Given the description of an element on the screen output the (x, y) to click on. 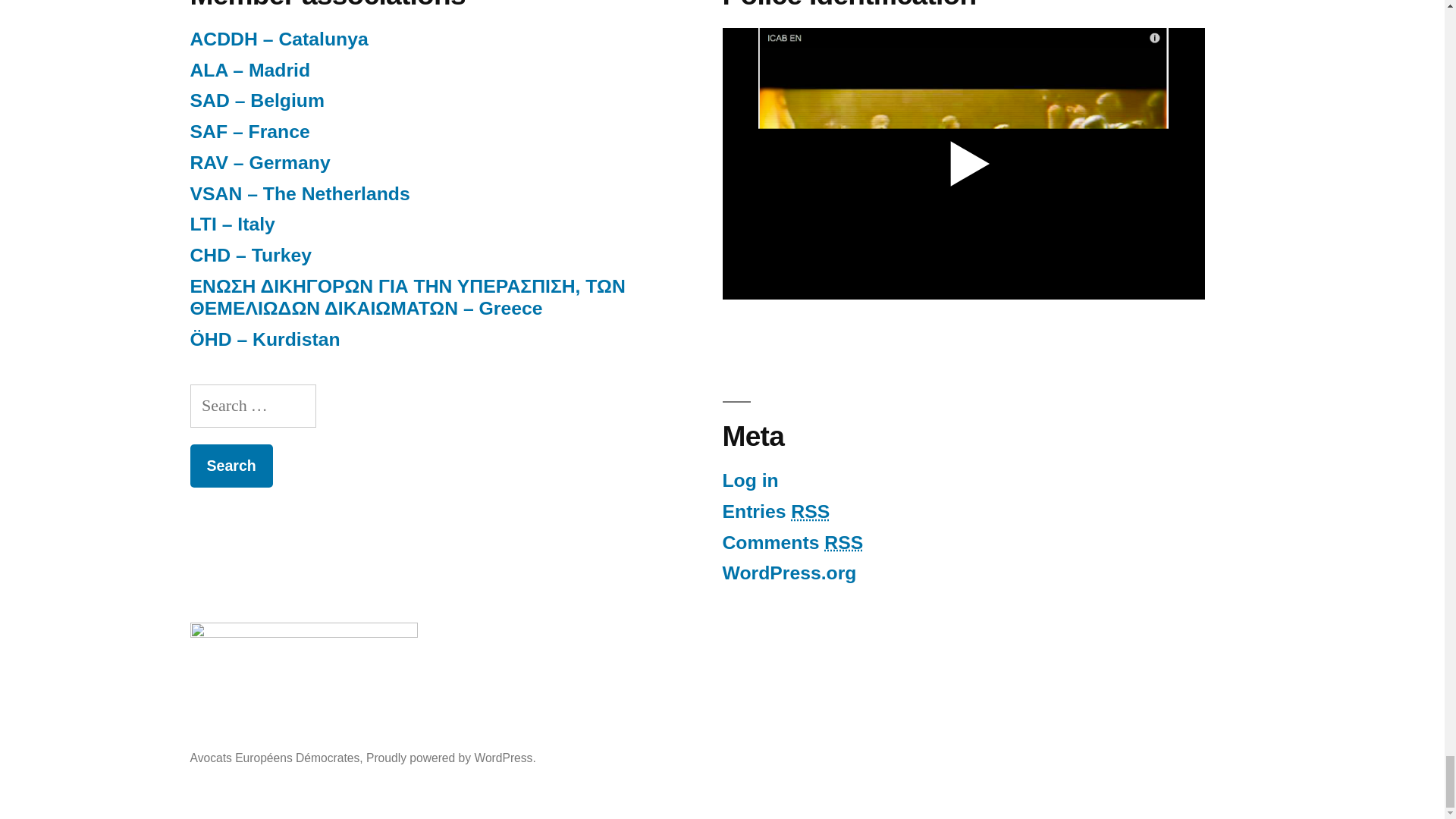
Search (230, 465)
Really Simple Syndication (843, 542)
Search (230, 465)
Really Simple Syndication (809, 511)
